Given the description of an element on the screen output the (x, y) to click on. 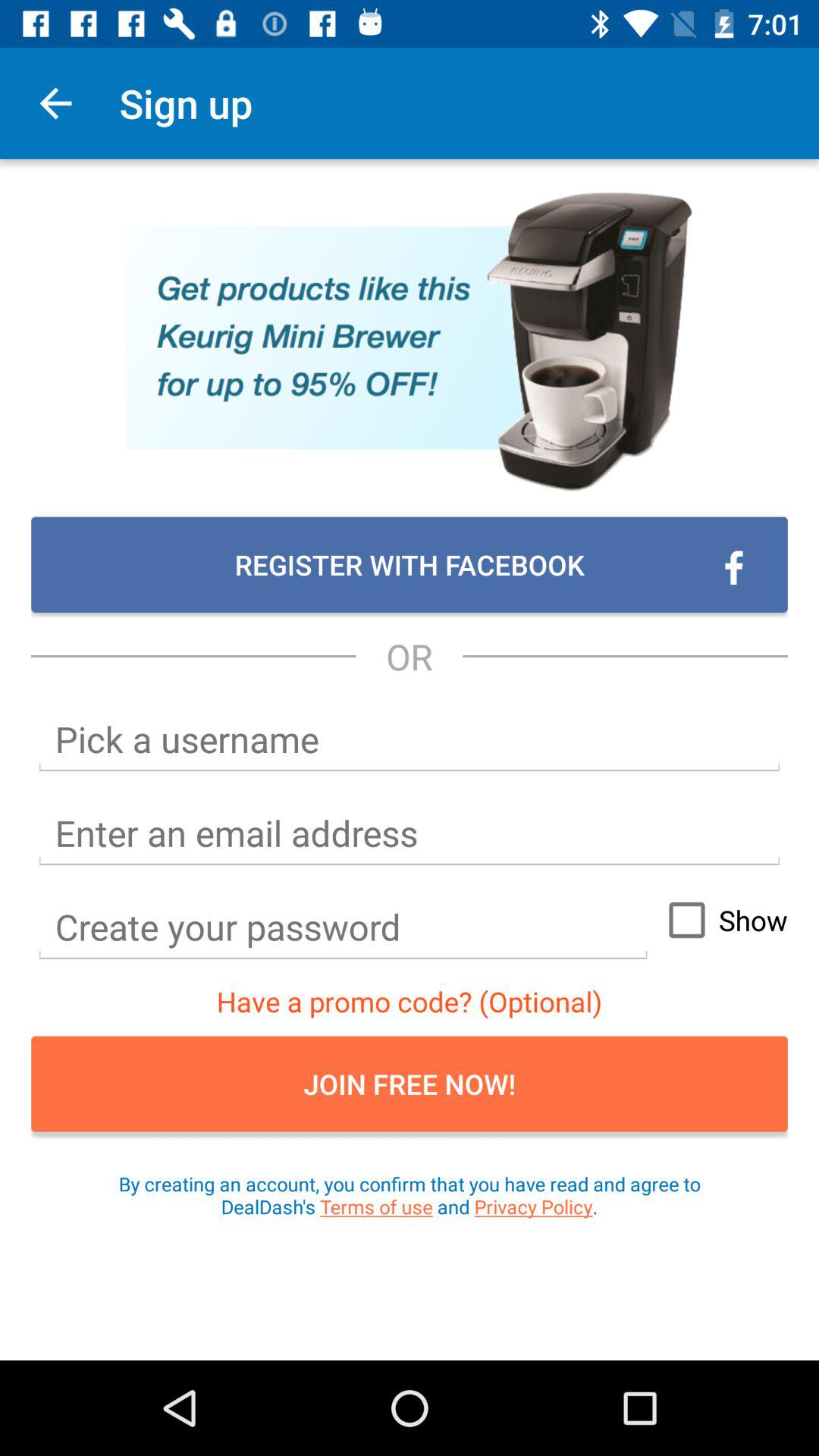
select the icon below join free now! item (409, 1195)
